Given the description of an element on the screen output the (x, y) to click on. 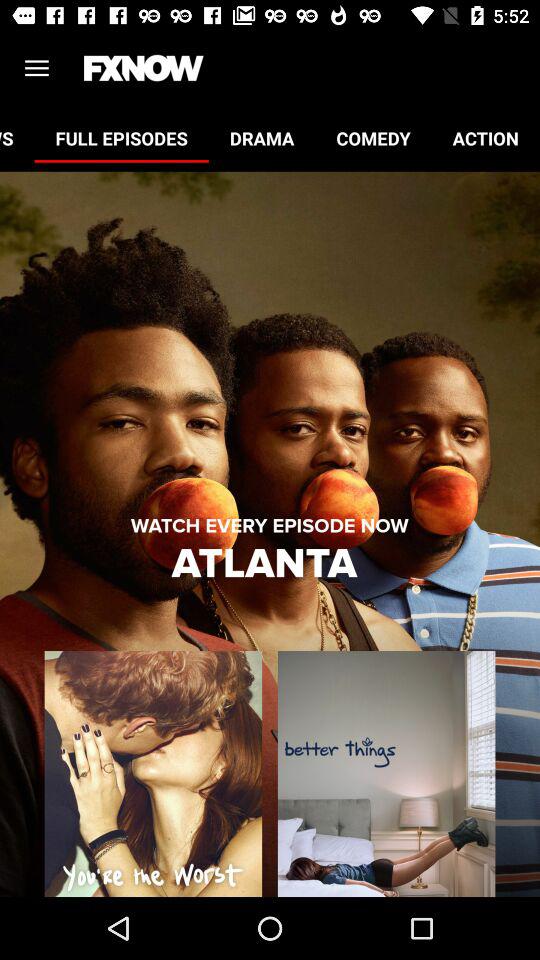
select the full episodes  option (121, 137)
click on action (486, 137)
